Given the description of an element on the screen output the (x, y) to click on. 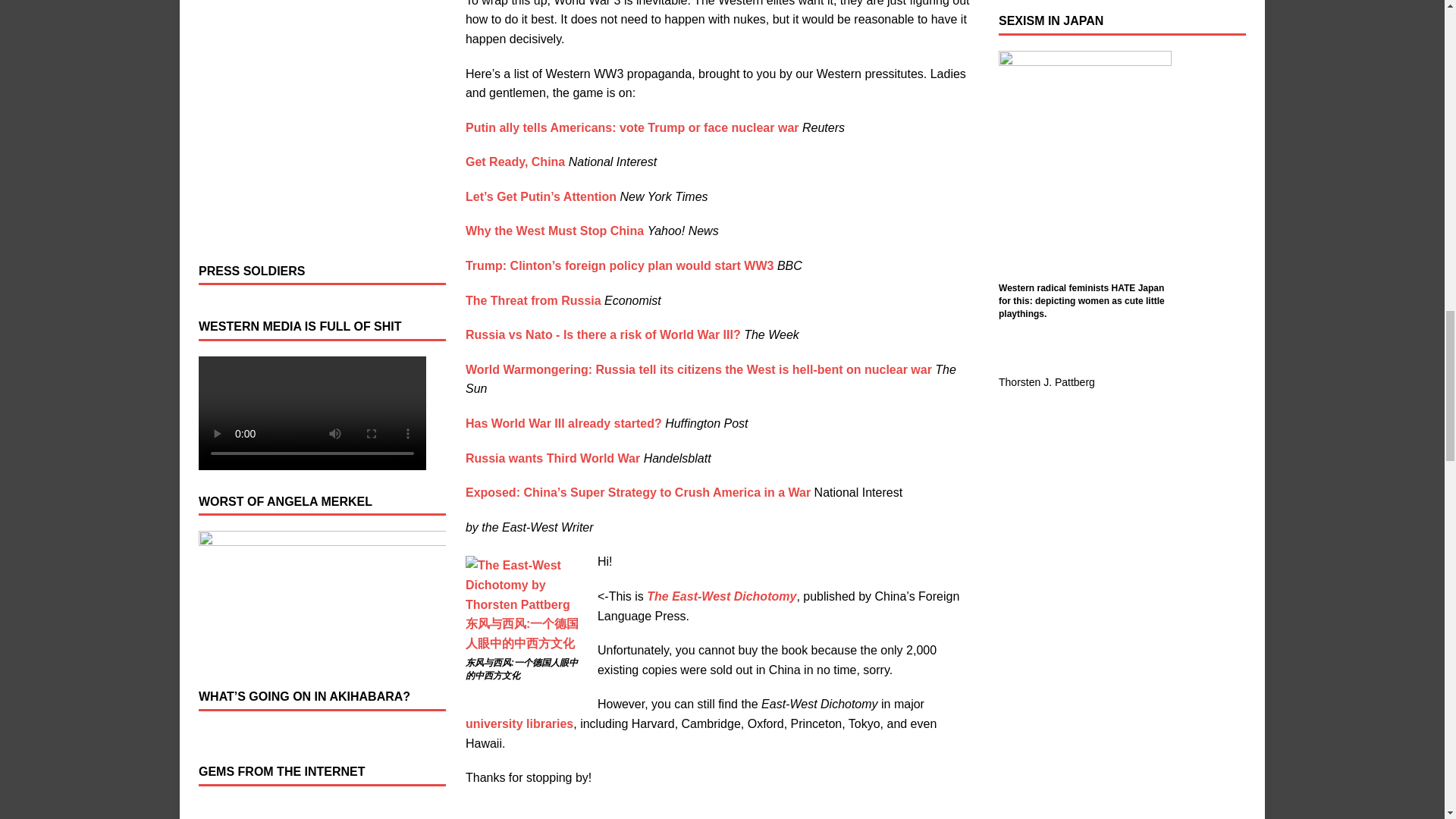
Get Ready, China (514, 161)
Putin ally tells Americans: vote Trump or face nuclear war (632, 127)
Why the West Must Stop China (554, 230)
